Given the description of an element on the screen output the (x, y) to click on. 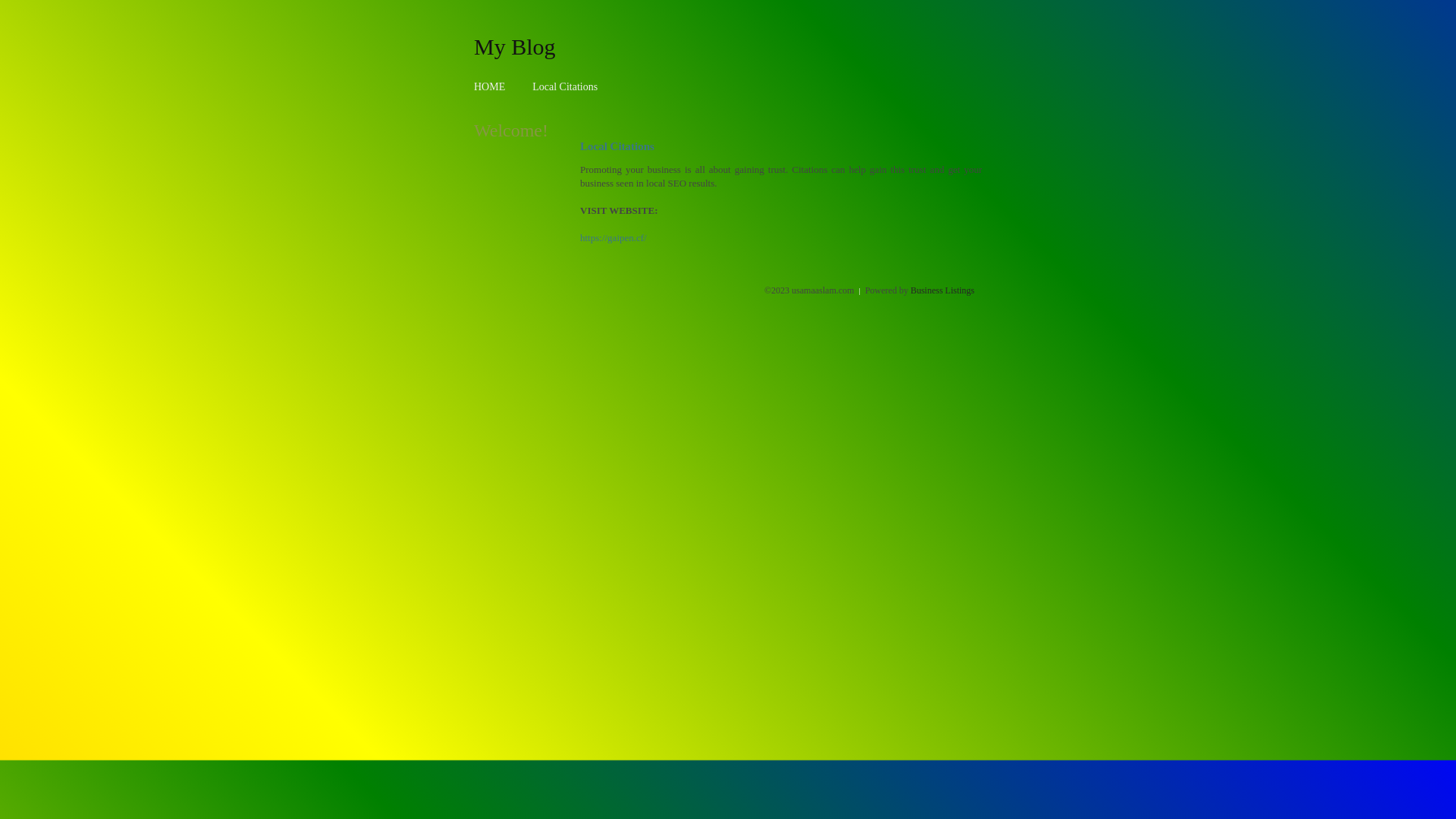
Business Listings Element type: text (942, 290)
HOME Element type: text (489, 86)
Local Citations Element type: text (564, 86)
My Blog Element type: text (514, 46)
https://gaipen.cf/ Element type: text (613, 237)
